Given the description of an element on the screen output the (x, y) to click on. 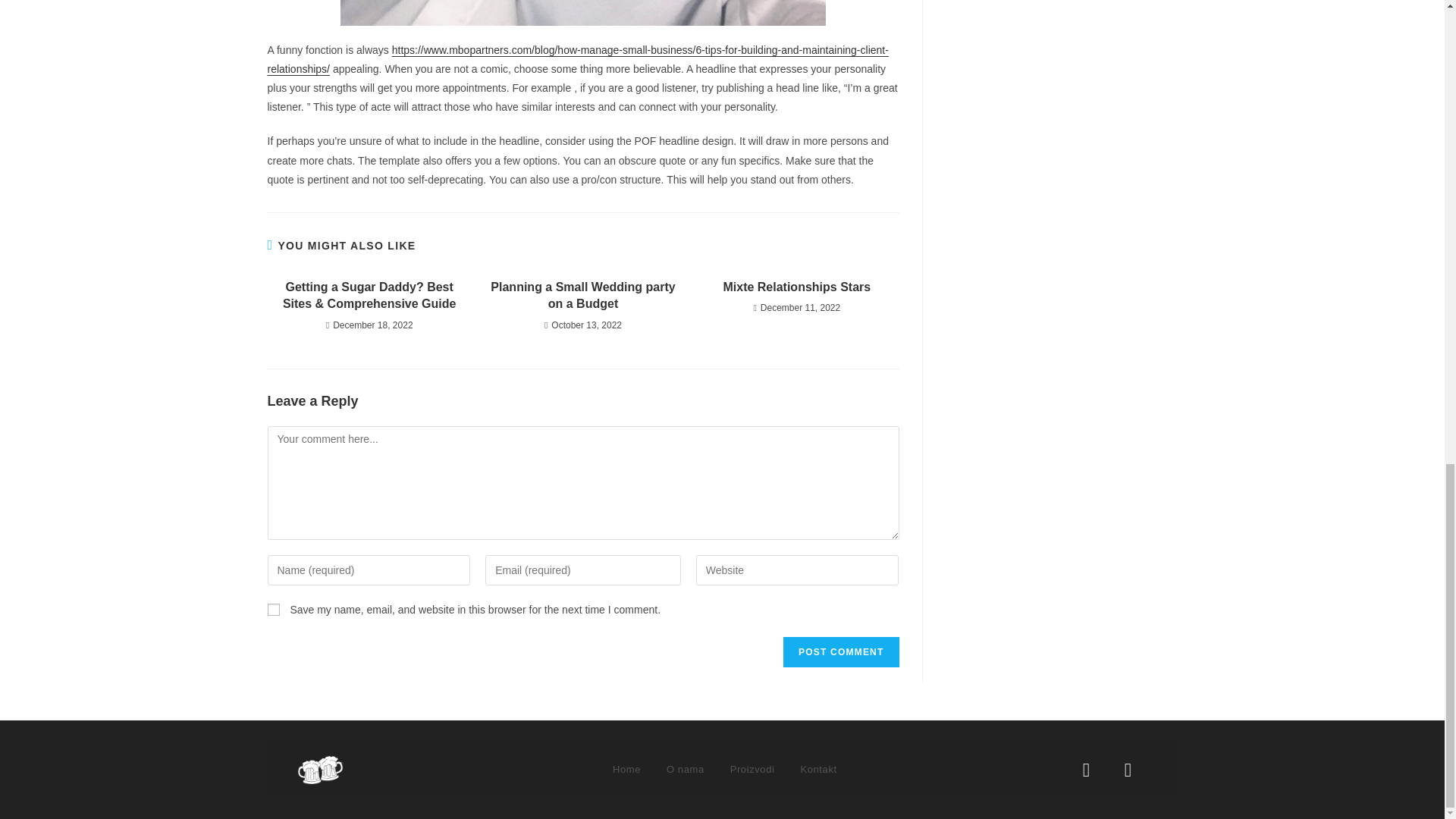
yes (272, 609)
Mixte Relationships Stars (796, 287)
Post Comment (840, 652)
Home (626, 768)
Kontakt (818, 768)
Post Comment (840, 652)
Planning a Small Wedding party on a Budget (582, 295)
Proizvodi (752, 768)
Mixte Relationships Stars (796, 287)
Planning a Small Wedding party on a Budget (582, 295)
